Given the description of an element on the screen output the (x, y) to click on. 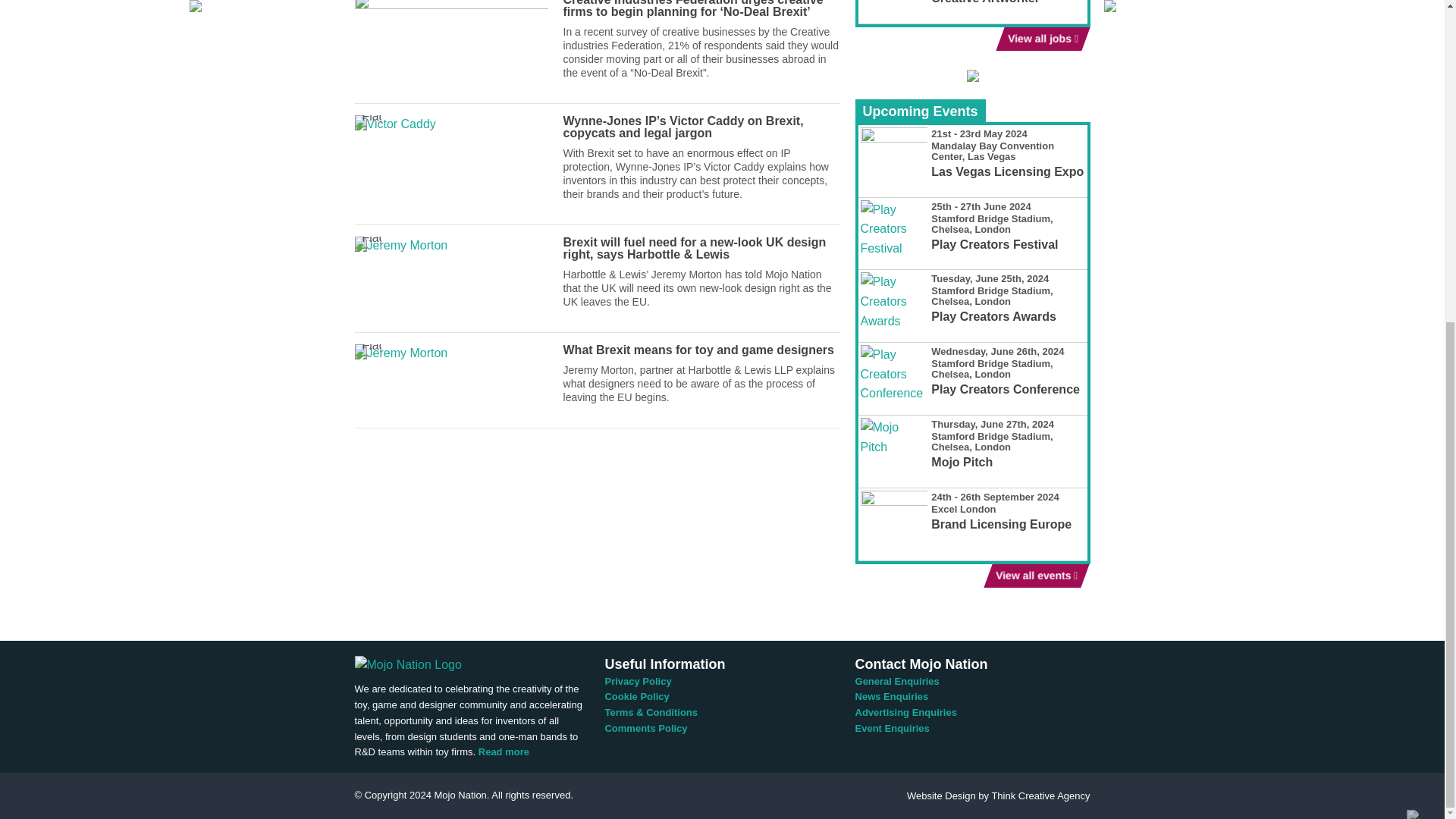
What Brexit means for toy and game designers (698, 349)
What Brexit means for toy and game designers (451, 352)
